Given the description of an element on the screen output the (x, y) to click on. 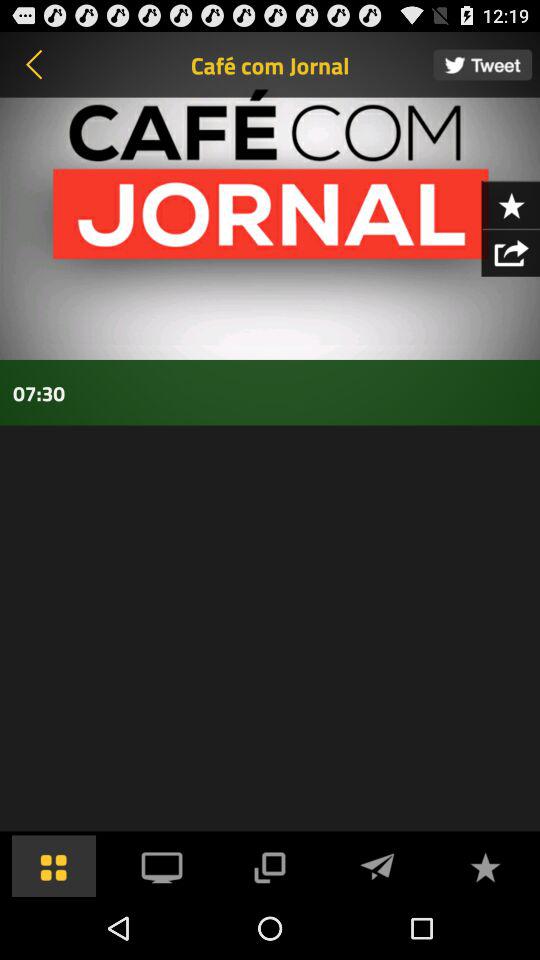
share the post (269, 865)
